Given the description of an element on the screen output the (x, y) to click on. 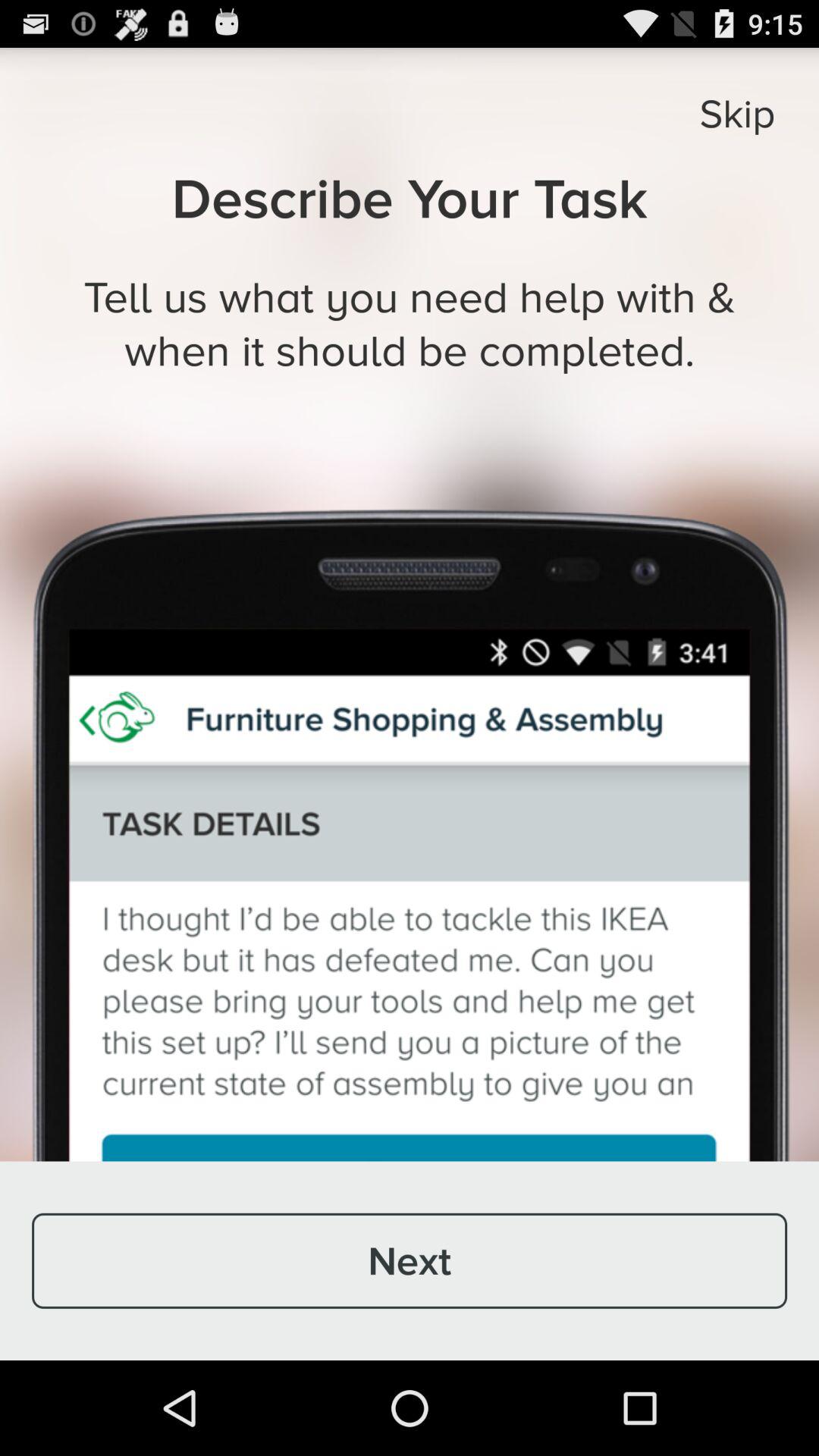
tap the item above tell us what item (737, 113)
